Given the description of an element on the screen output the (x, y) to click on. 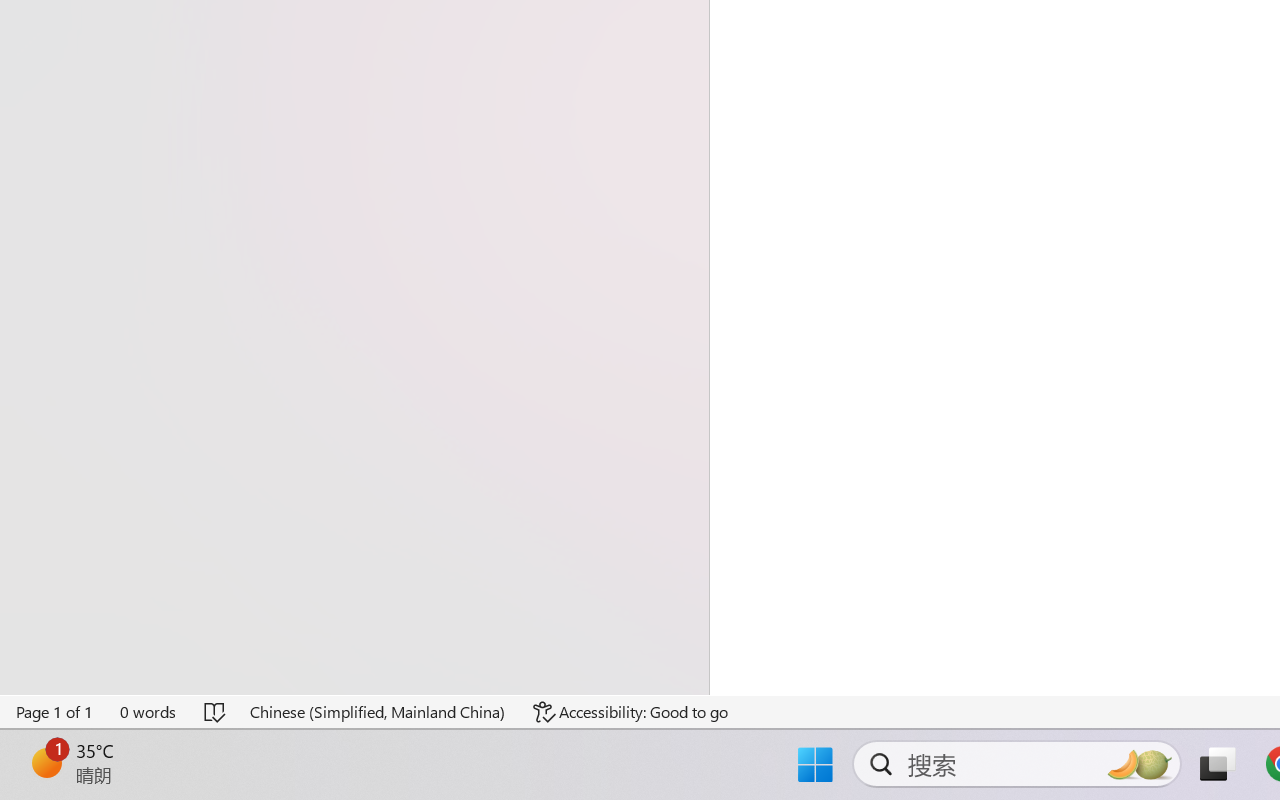
Language Chinese (Simplified, Mainland China) (378, 712)
